Given the description of an element on the screen output the (x, y) to click on. 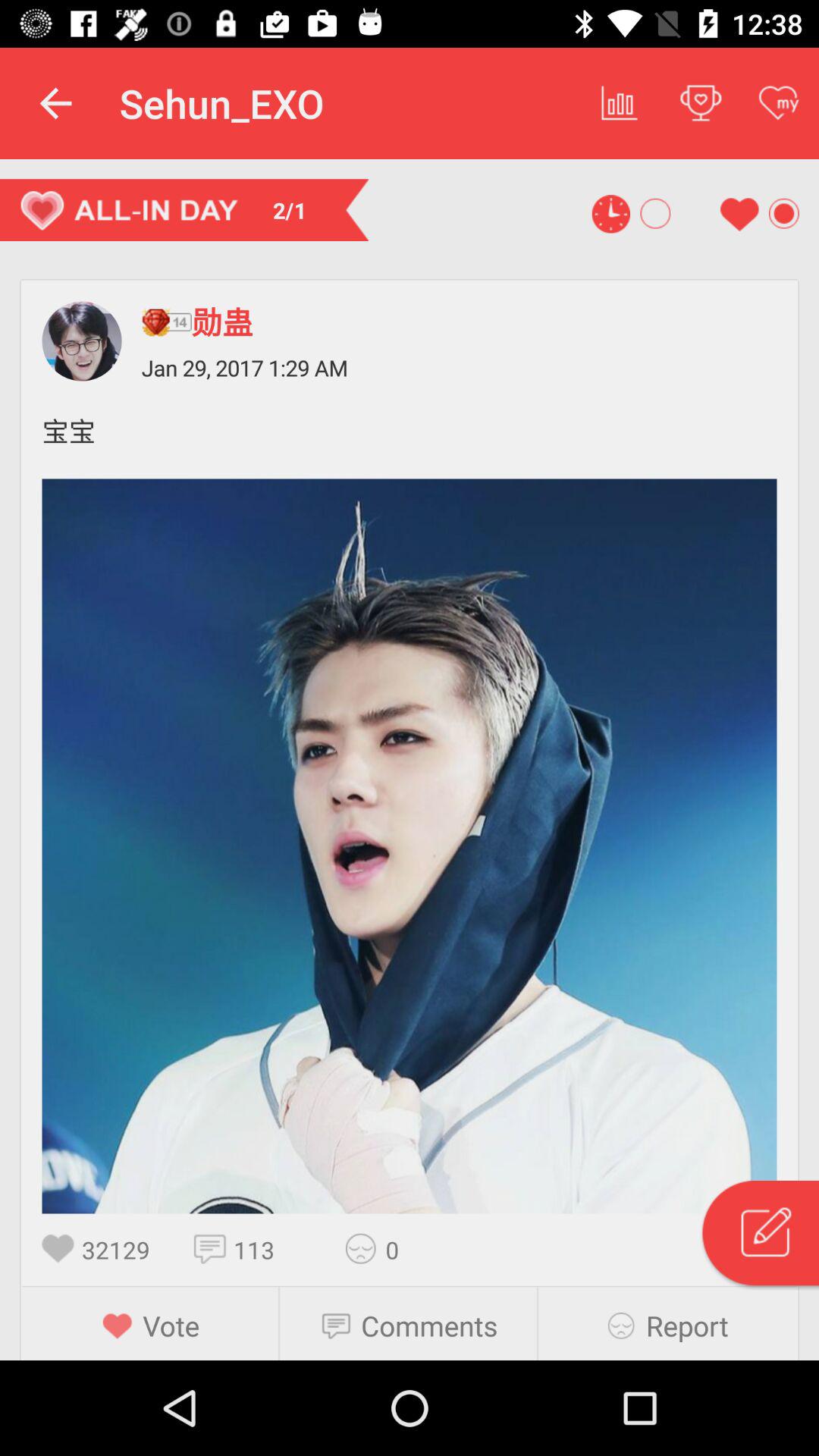
launch the item to the right of the 32129 icon (213, 1248)
